Given the description of an element on the screen output the (x, y) to click on. 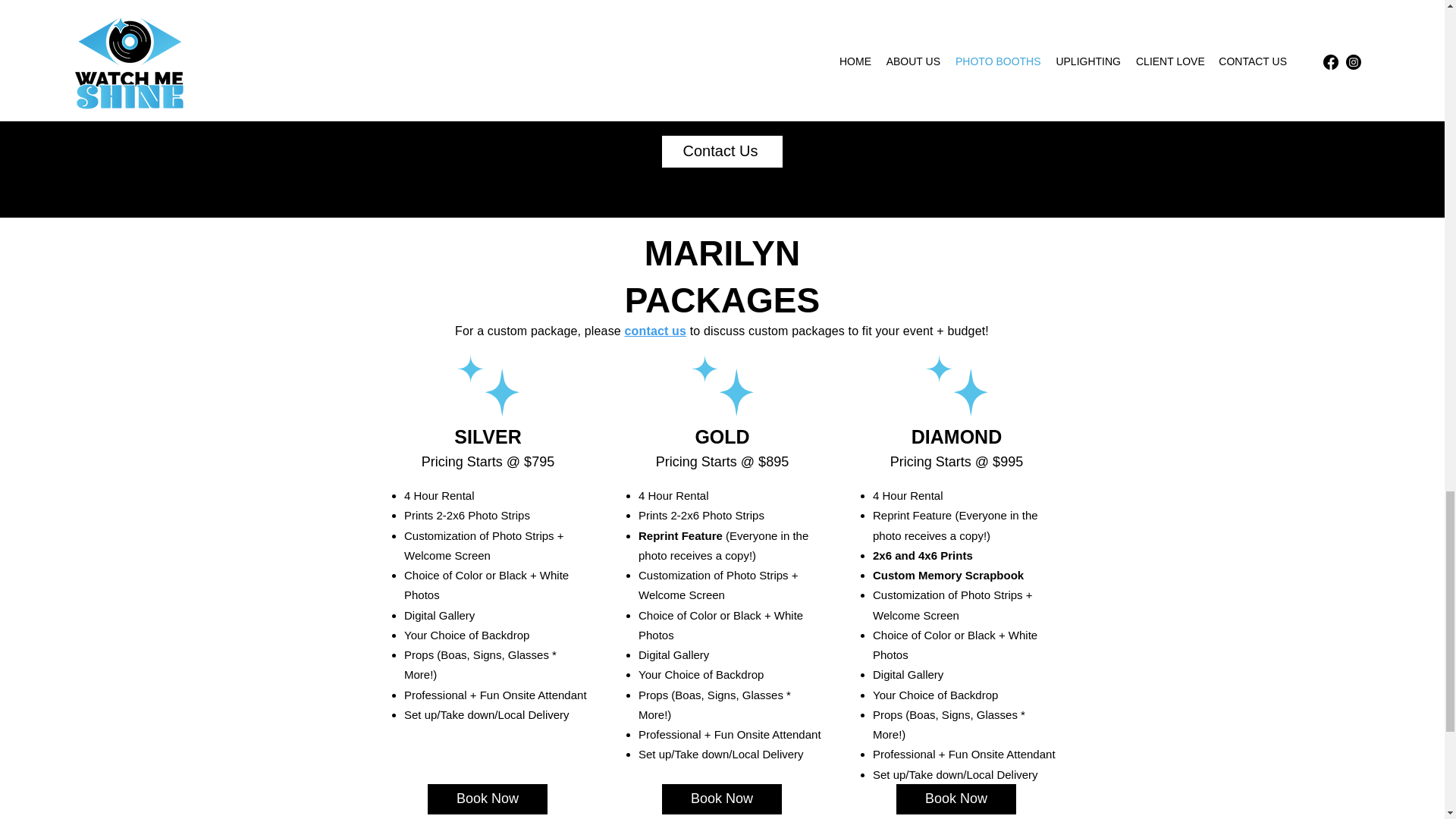
Book Now (721, 798)
Book Now (956, 798)
contact us (655, 330)
Book Now (487, 798)
Contact Us (721, 151)
